Given the description of an element on the screen output the (x, y) to click on. 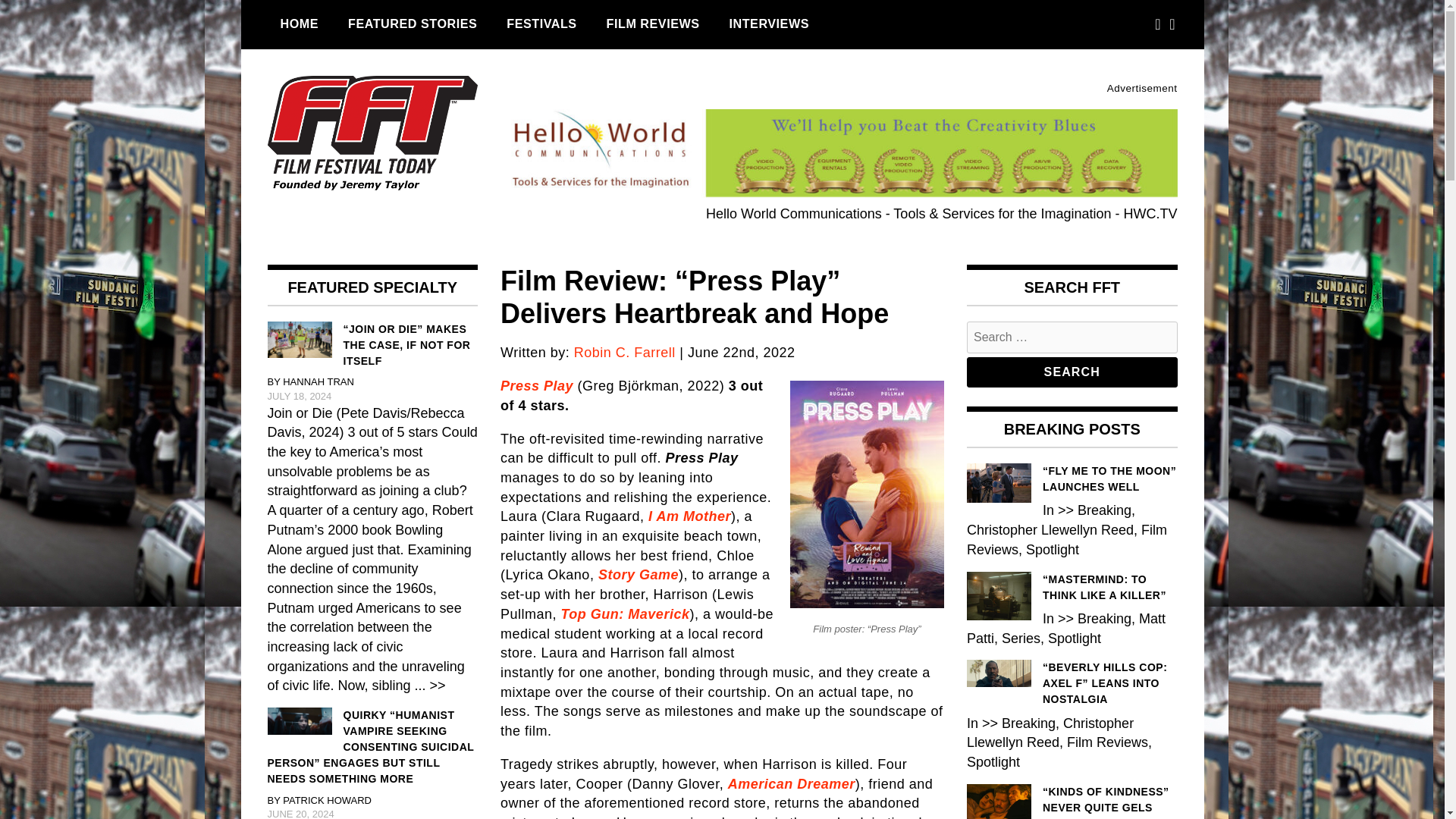
Press Play (536, 385)
Search (1071, 372)
FEATURED STORIES (411, 23)
HOME (298, 23)
Search (1071, 372)
Story Game (638, 574)
Top Gun: Maverick (625, 613)
Search (1071, 372)
FESTIVALS (541, 23)
American Dreamer (792, 783)
Robin C. Farrell (624, 352)
Film Festival Today (352, 234)
I Am Mother (688, 516)
FILM REVIEWS (653, 23)
INTERVIEWS (769, 23)
